Given the description of an element on the screen output the (x, y) to click on. 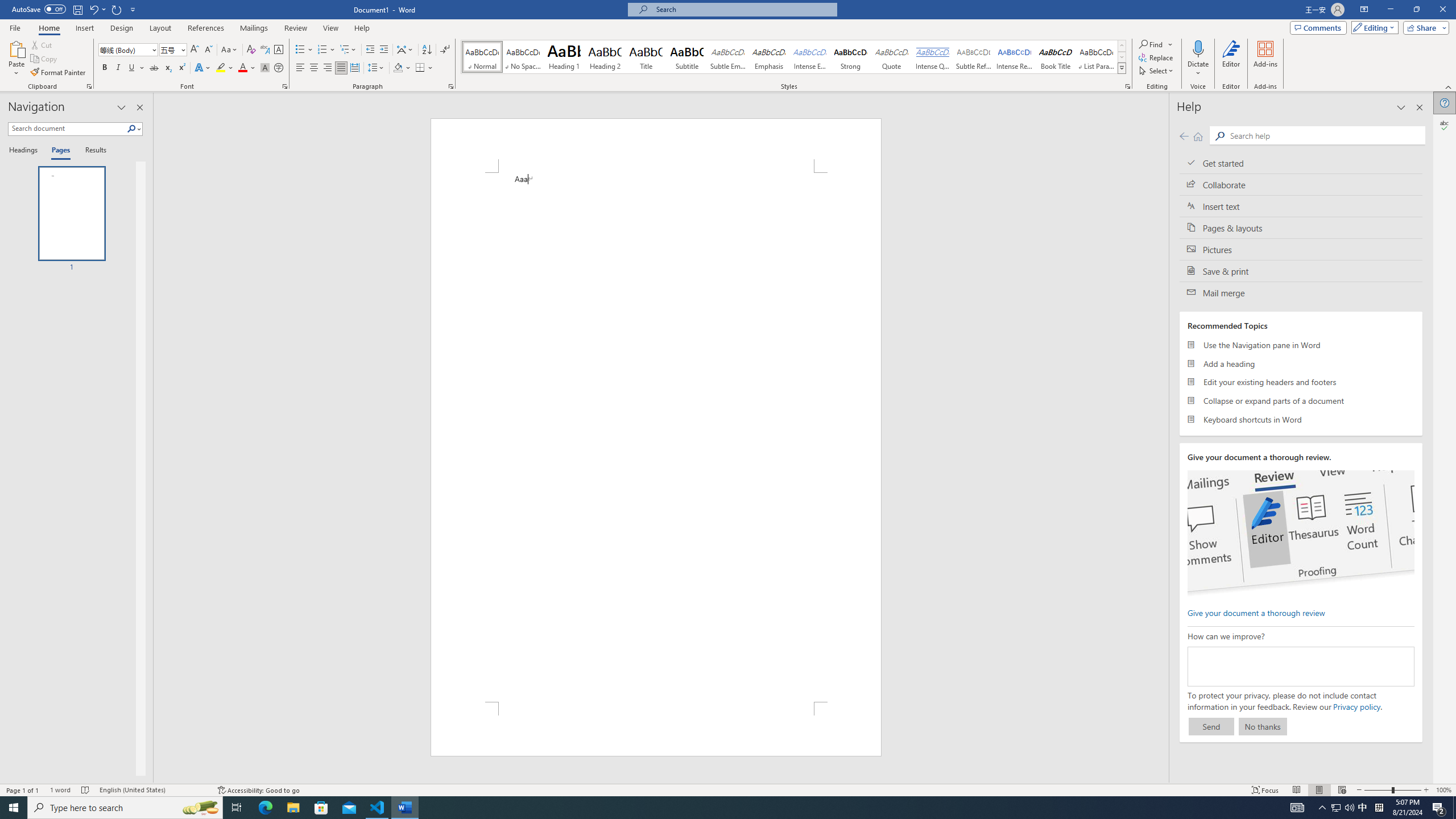
Font Color Red (241, 67)
Subscript (167, 67)
Add a heading (1300, 363)
Shading RGB(0, 0, 0) (397, 67)
Collapse the Ribbon (1448, 86)
Show/Hide Editing Marks (444, 49)
Layout (160, 28)
Mode (1372, 27)
Accessibility Checker Accessibility: Good to go (258, 790)
Repeat Increase Indent (117, 9)
Font Color (246, 67)
Previous page (1183, 136)
Save (77, 9)
Copy (45, 58)
Zoom (1392, 790)
